Given the description of an element on the screen output the (x, y) to click on. 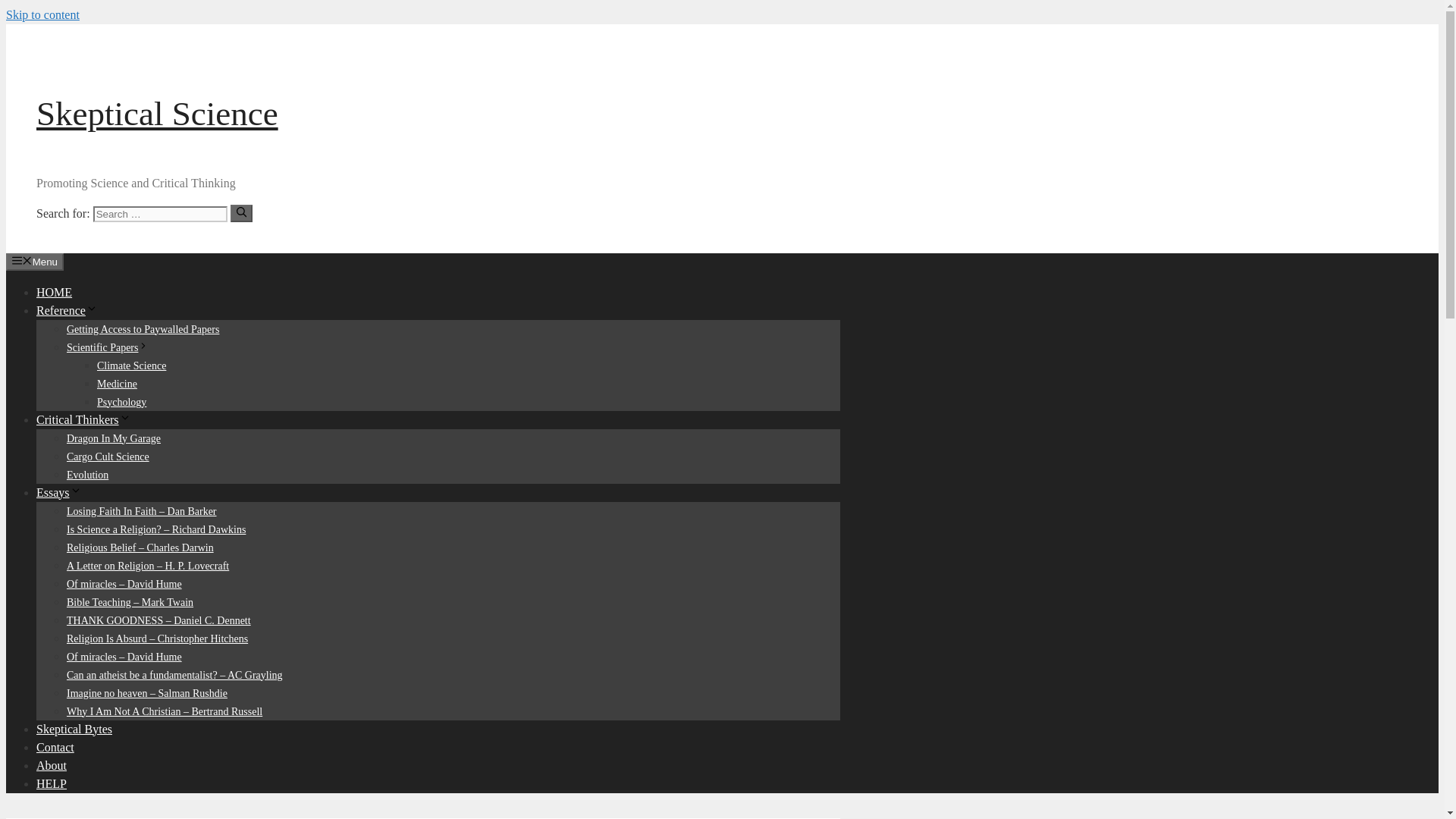
Evolution (86, 473)
Climate Science (131, 365)
Cargo Cult Science (107, 455)
HOME (53, 291)
Search for: (160, 213)
Skip to content (42, 14)
Skeptical Bytes (74, 727)
Reference (66, 309)
About (51, 764)
Menu (34, 261)
